Given the description of an element on the screen output the (x, y) to click on. 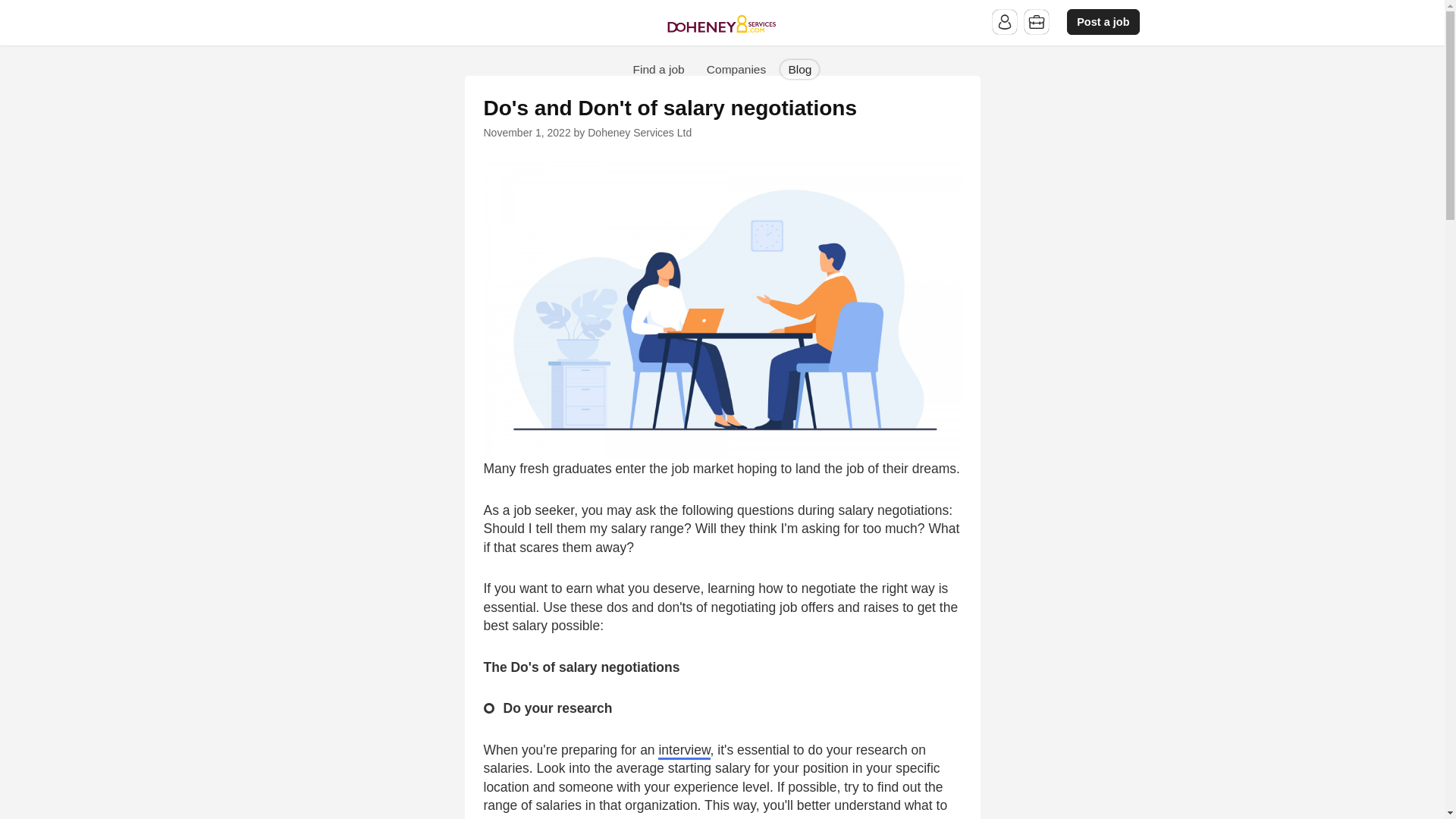
Post a job (1102, 22)
Companies (735, 68)
Doheney (721, 23)
Blog (799, 68)
Find a job (659, 68)
interview (684, 751)
